Given the description of an element on the screen output the (x, y) to click on. 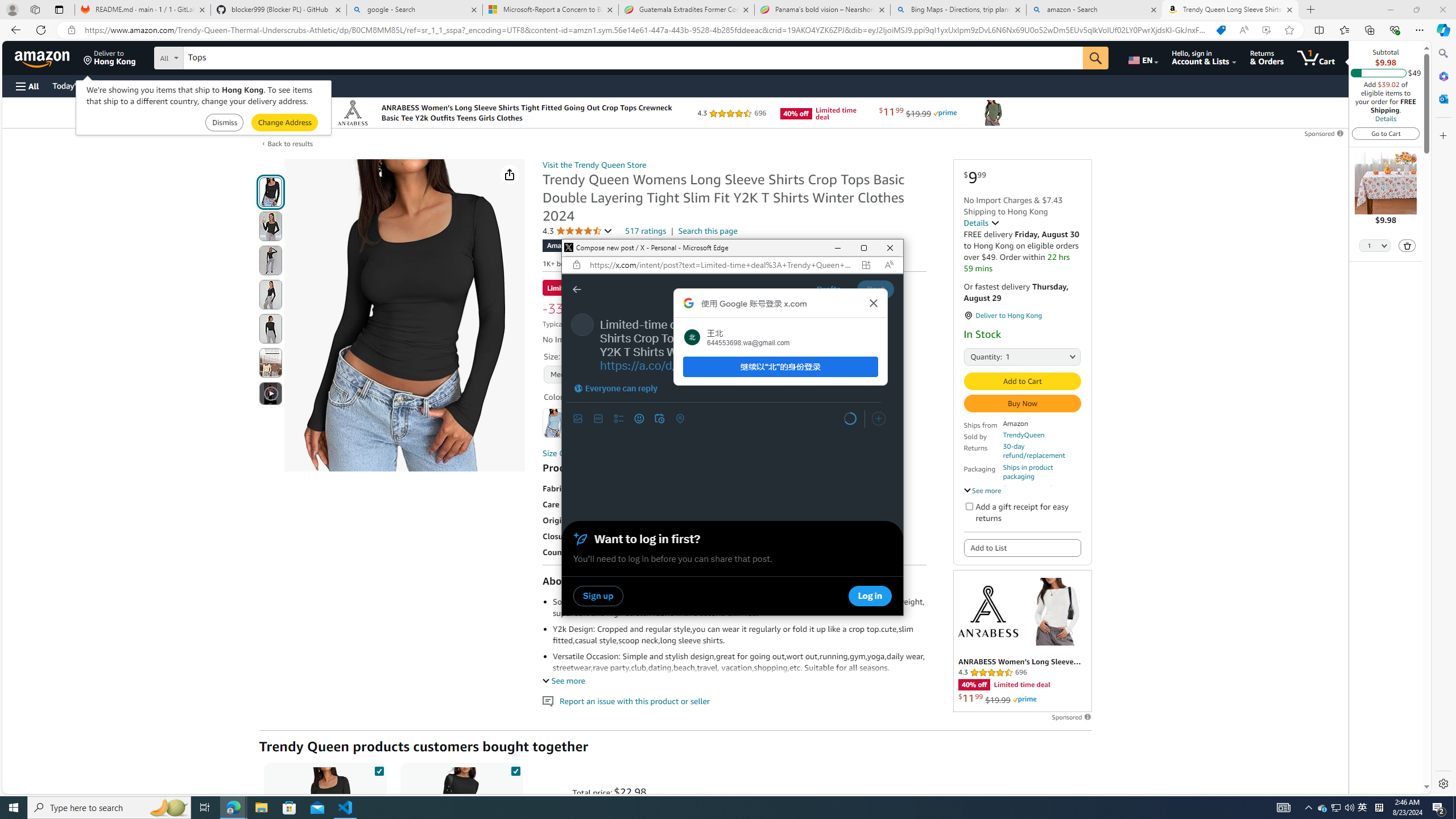
Back to results (290, 144)
Visual Studio Code - 1 running window (345, 807)
Quantity: (976, 355)
Show desktop (1454, 807)
Visit the Trendy Queen Store (594, 164)
Next (829, 418)
Q2790: 100% (1349, 807)
Secure transaction (1032, 488)
Share (509, 174)
